Given the description of an element on the screen output the (x, y) to click on. 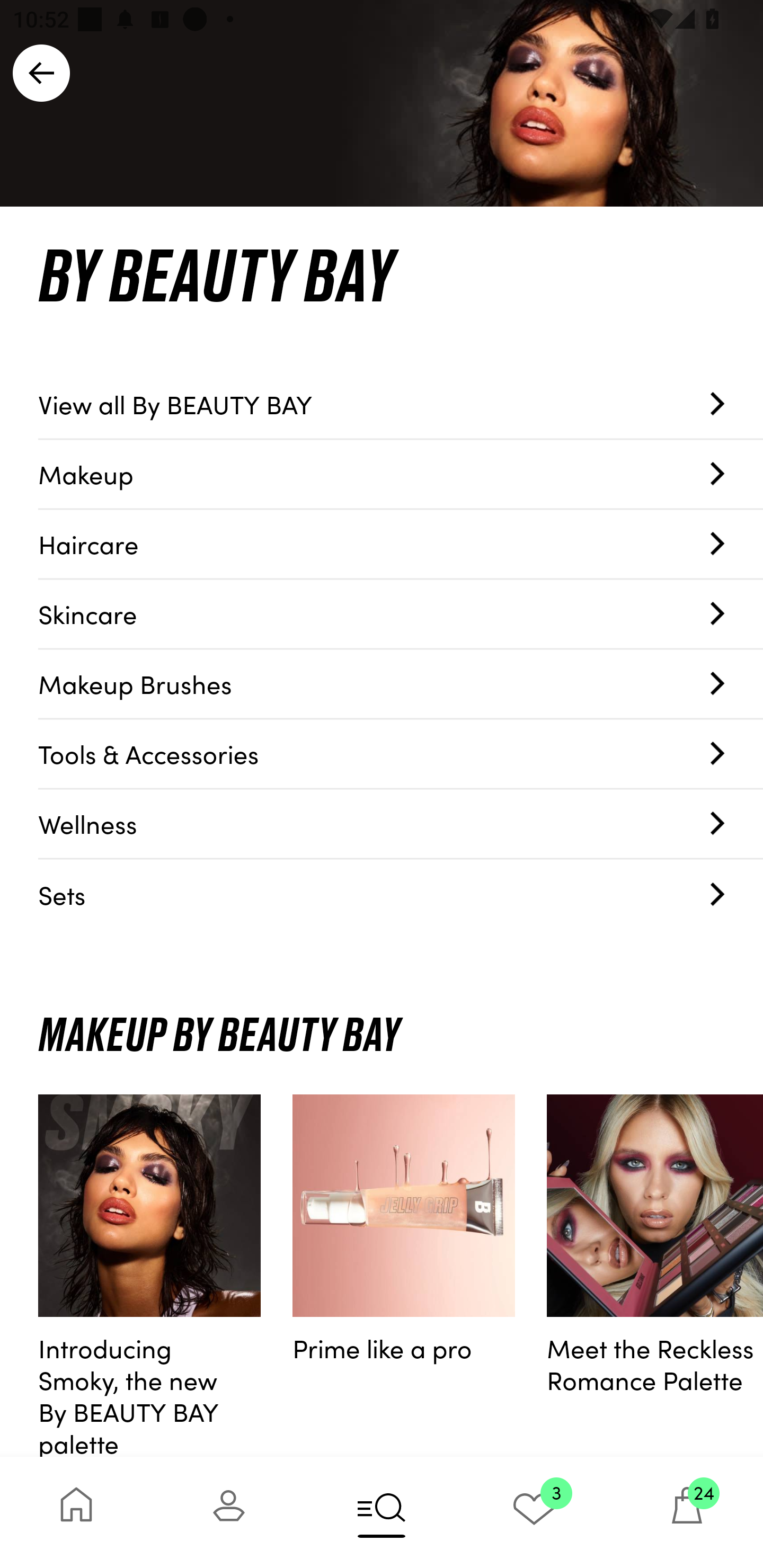
View all By BEAUTY BAY  (400, 404)
Makeup (400, 474)
Haircare (400, 544)
Skincare (400, 614)
Makeup Brushes (400, 684)
Tools & Accessories (400, 753)
Wellness (400, 823)
Sets (400, 894)
Introducing Smoky, the new By BEAUTY BAY palette (149, 1275)
Prime like a pro (403, 1275)
Meet the Reckless Romance Palette (655, 1275)
3 (533, 1512)
24 (686, 1512)
